Given the description of an element on the screen output the (x, y) to click on. 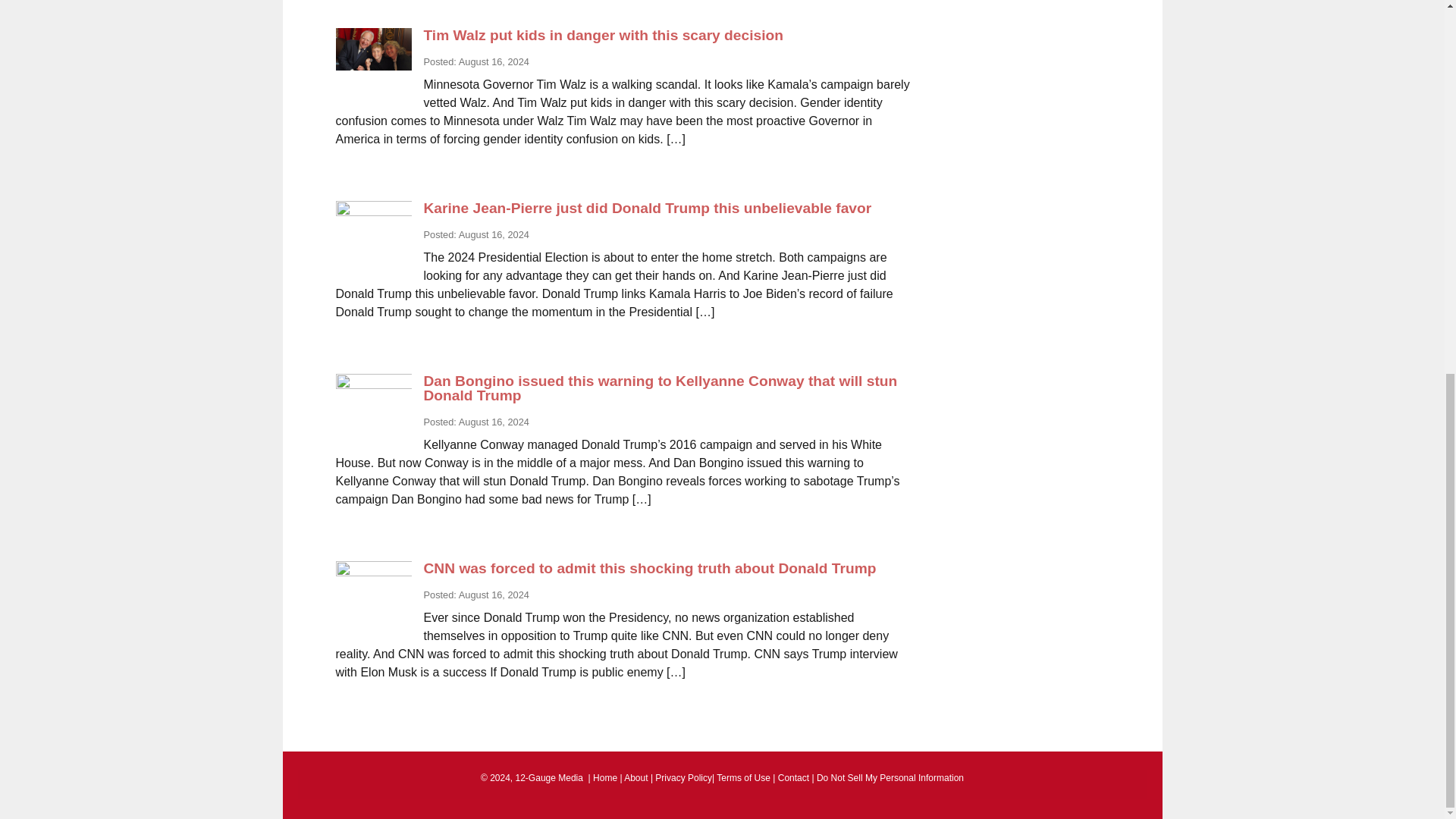
Privacy Policy (683, 777)
About (635, 777)
Tim Walz put kids in danger with this scary decision (603, 35)
Home (604, 777)
Terms of Use (743, 777)
Do Not Sell My Personal Information (889, 777)
Contact (793, 777)
